Given the description of an element on the screen output the (x, y) to click on. 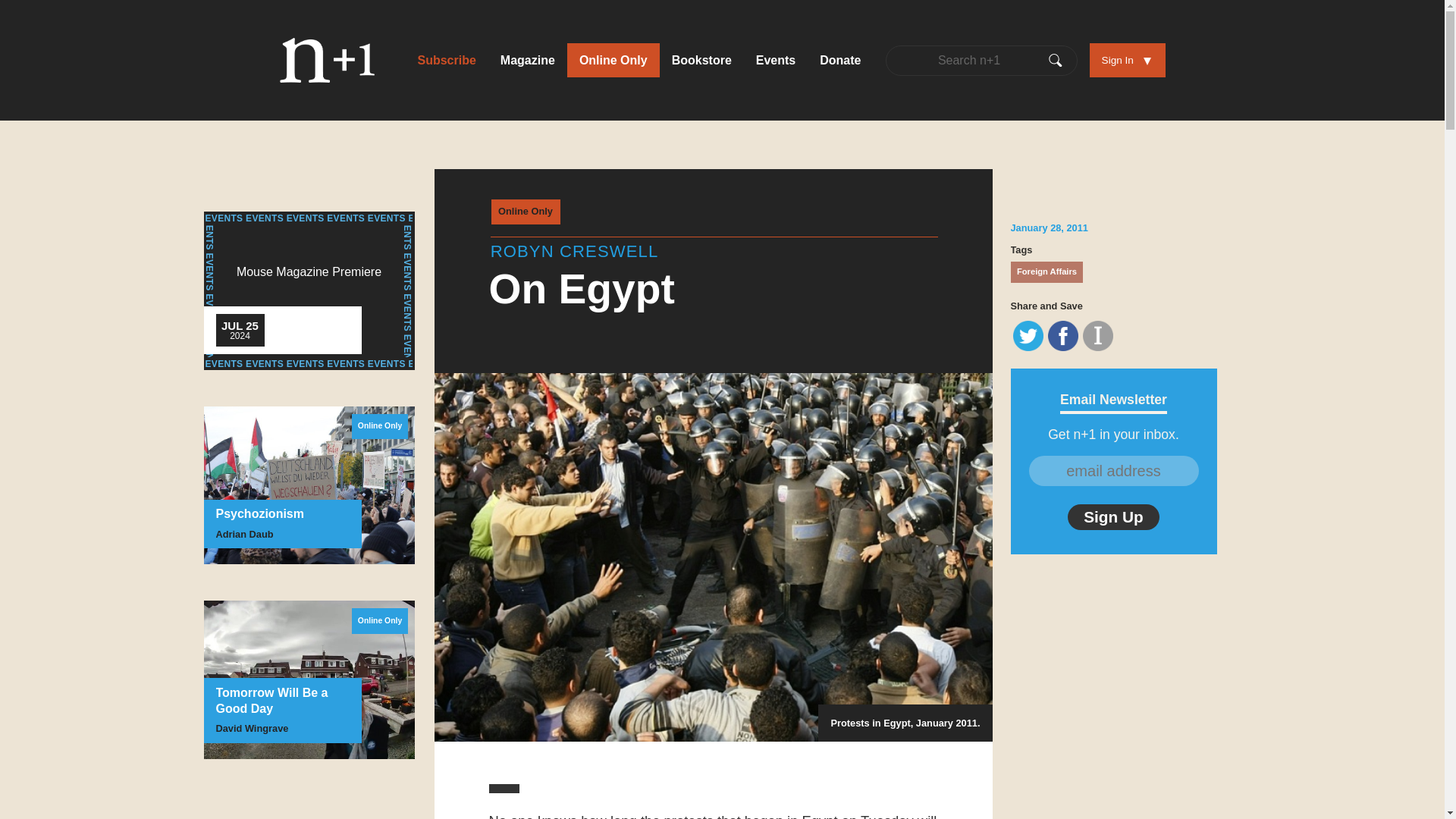
Twitter (1028, 336)
Robyn Creswell (574, 251)
Sign Up (1112, 516)
Foreign Affairs (1046, 271)
Online Only (526, 211)
Facebook (1063, 336)
Donate (840, 59)
Events (776, 59)
Sign Up (1112, 516)
Subscribe (445, 59)
Twitter (1028, 336)
Facebook (1063, 336)
ROBYN CRESWELL (574, 251)
Latest dispatches (613, 59)
Instapaper (1098, 336)
